Given the description of an element on the screen output the (x, y) to click on. 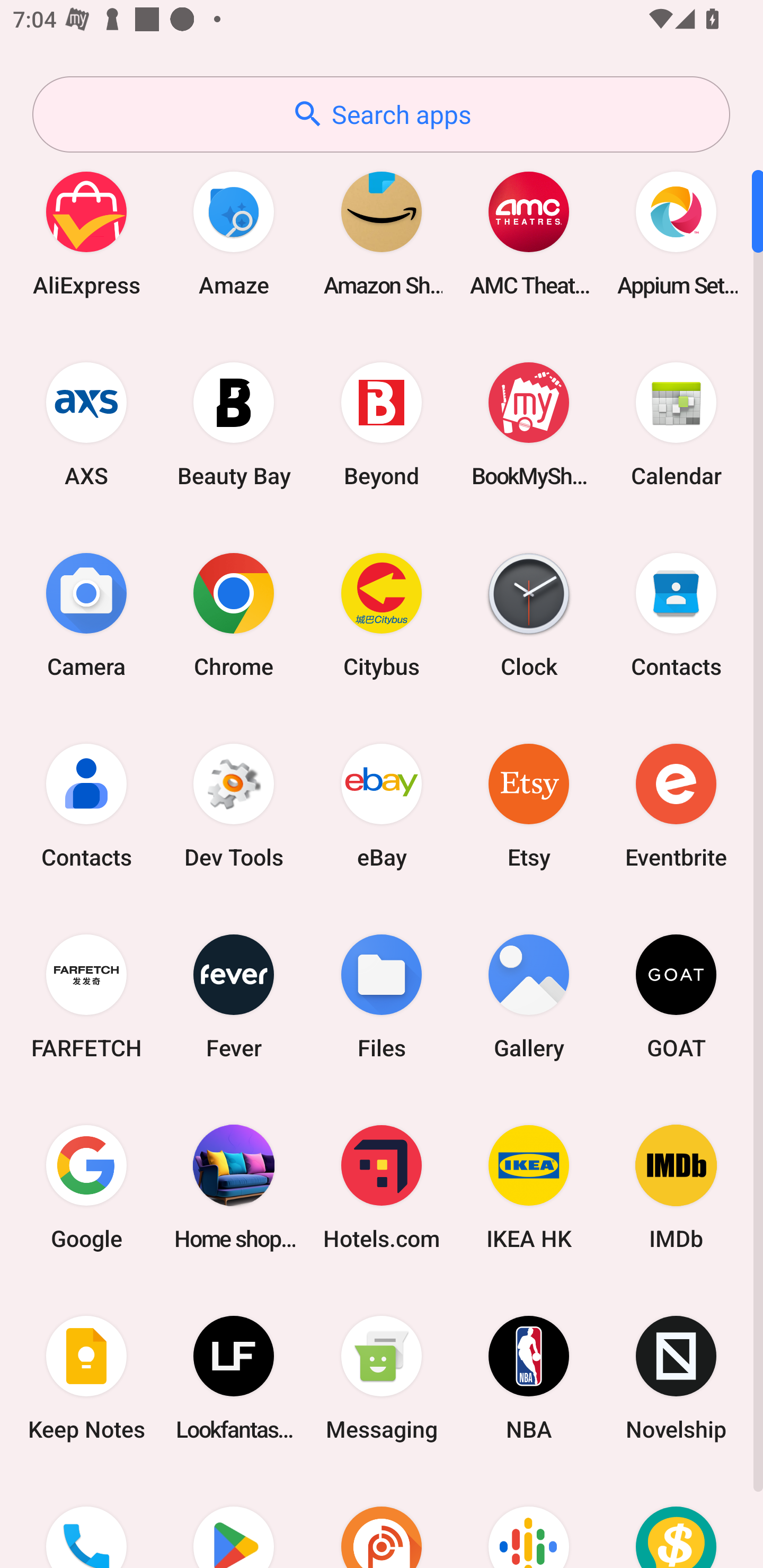
  Search apps (381, 114)
AliExpress (86, 233)
Amaze (233, 233)
Amazon Shopping (381, 233)
AMC Theatres (528, 233)
Appium Settings (676, 233)
AXS (86, 424)
Beauty Bay (233, 424)
Beyond (381, 424)
BookMyShow (528, 424)
Calendar (676, 424)
Camera (86, 614)
Chrome (233, 614)
Citybus (381, 614)
Clock (528, 614)
Contacts (676, 614)
Contacts (86, 805)
Dev Tools (233, 805)
eBay (381, 805)
Etsy (528, 805)
Eventbrite (676, 805)
FARFETCH (86, 996)
Fever (233, 996)
Files (381, 996)
Gallery (528, 996)
GOAT (676, 996)
Google (86, 1186)
Home shopping (233, 1186)
Hotels.com (381, 1186)
IKEA HK (528, 1186)
IMDb (676, 1186)
Keep Notes (86, 1377)
Lookfantastic (233, 1377)
Messaging (381, 1377)
NBA (528, 1377)
Novelship (676, 1377)
Phone (86, 1520)
Play Store (233, 1520)
Podcast Addict (381, 1520)
Podcasts (528, 1520)
Price (676, 1520)
